Given the description of an element on the screen output the (x, y) to click on. 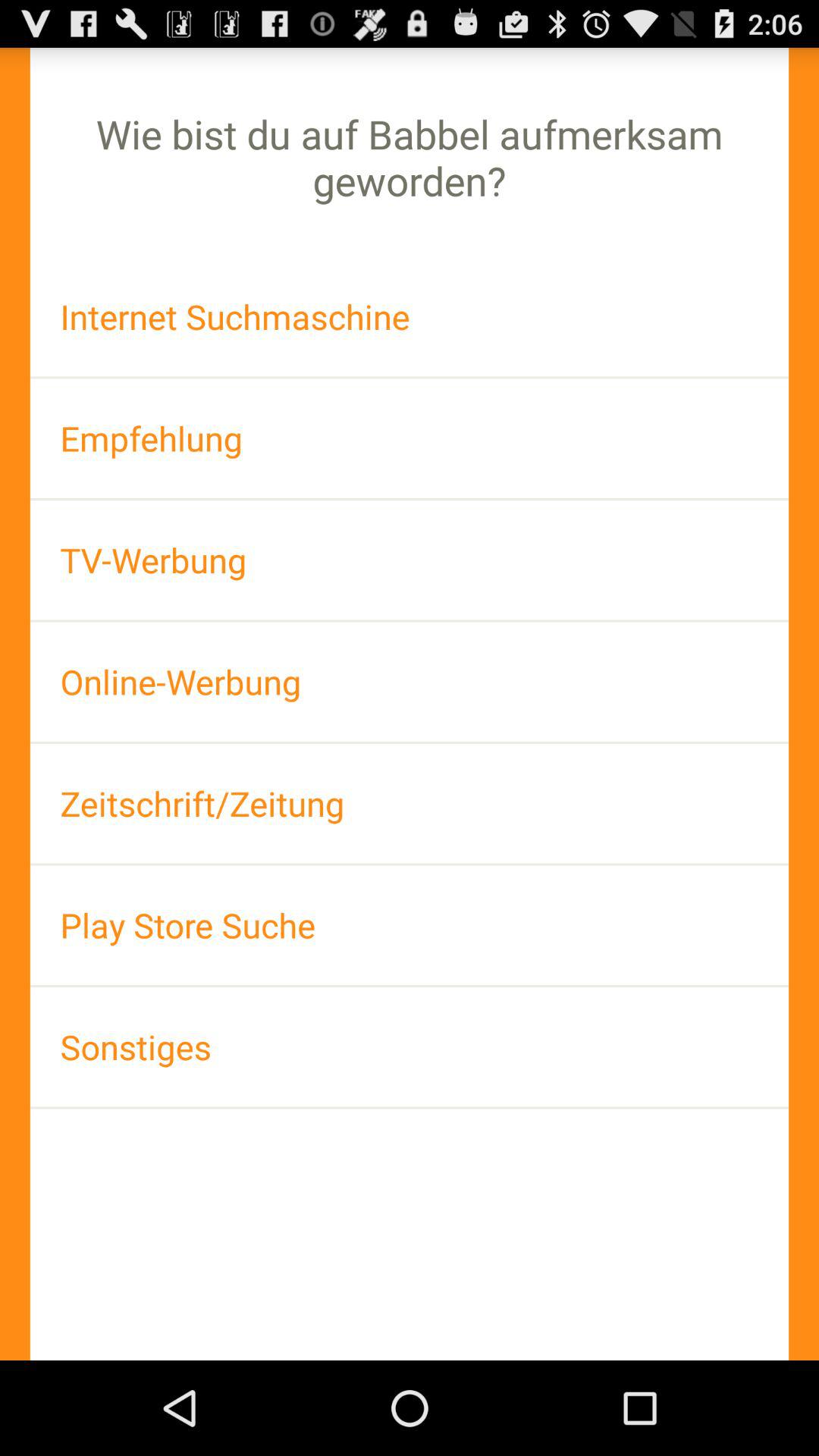
select the item below internet suchmaschine (409, 438)
